Given the description of an element on the screen output the (x, y) to click on. 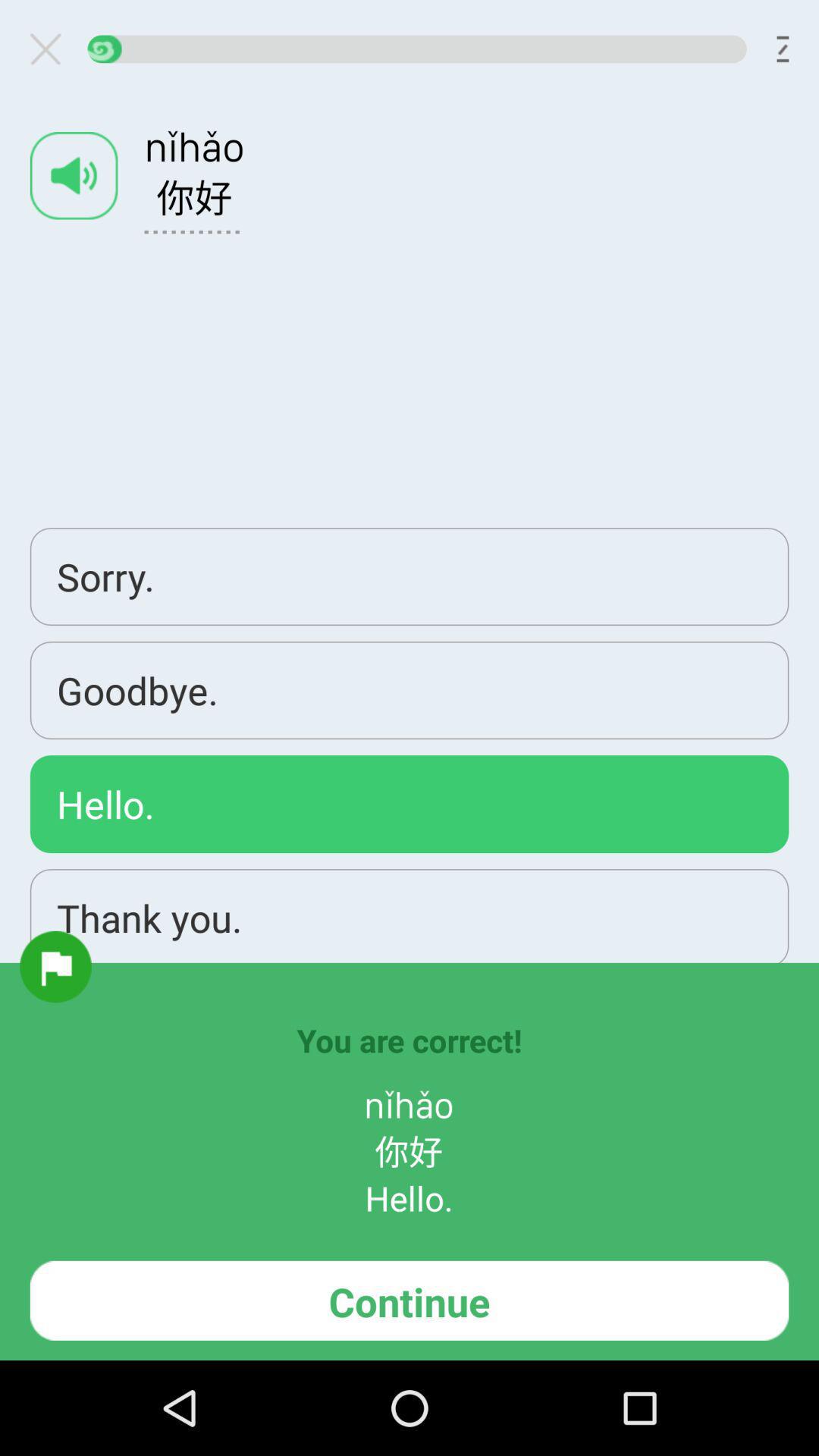
press button above continue (55, 966)
